Given the description of an element on the screen output the (x, y) to click on. 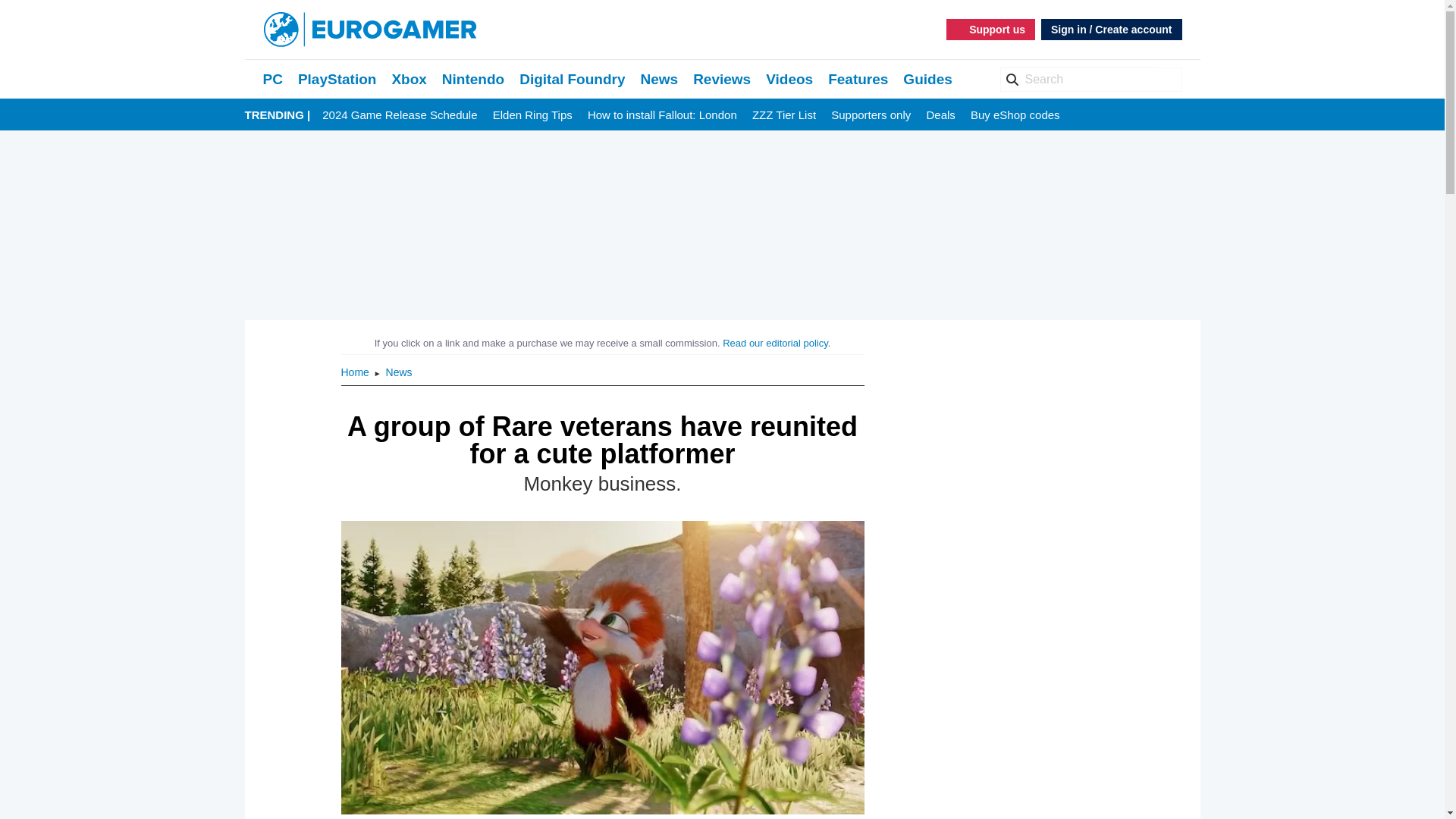
Home (356, 372)
Nintendo (472, 78)
Reviews (722, 78)
Features (858, 78)
Deals (940, 114)
Buy eShop codes (1015, 114)
Elden Ring Tips (532, 114)
News (659, 78)
Digital Foundry (571, 78)
Features (858, 78)
Guides (927, 78)
Reviews (722, 78)
How to install Fallout: London (662, 114)
2024 Game Release Schedule (399, 114)
Xbox (408, 78)
